Given the description of an element on the screen output the (x, y) to click on. 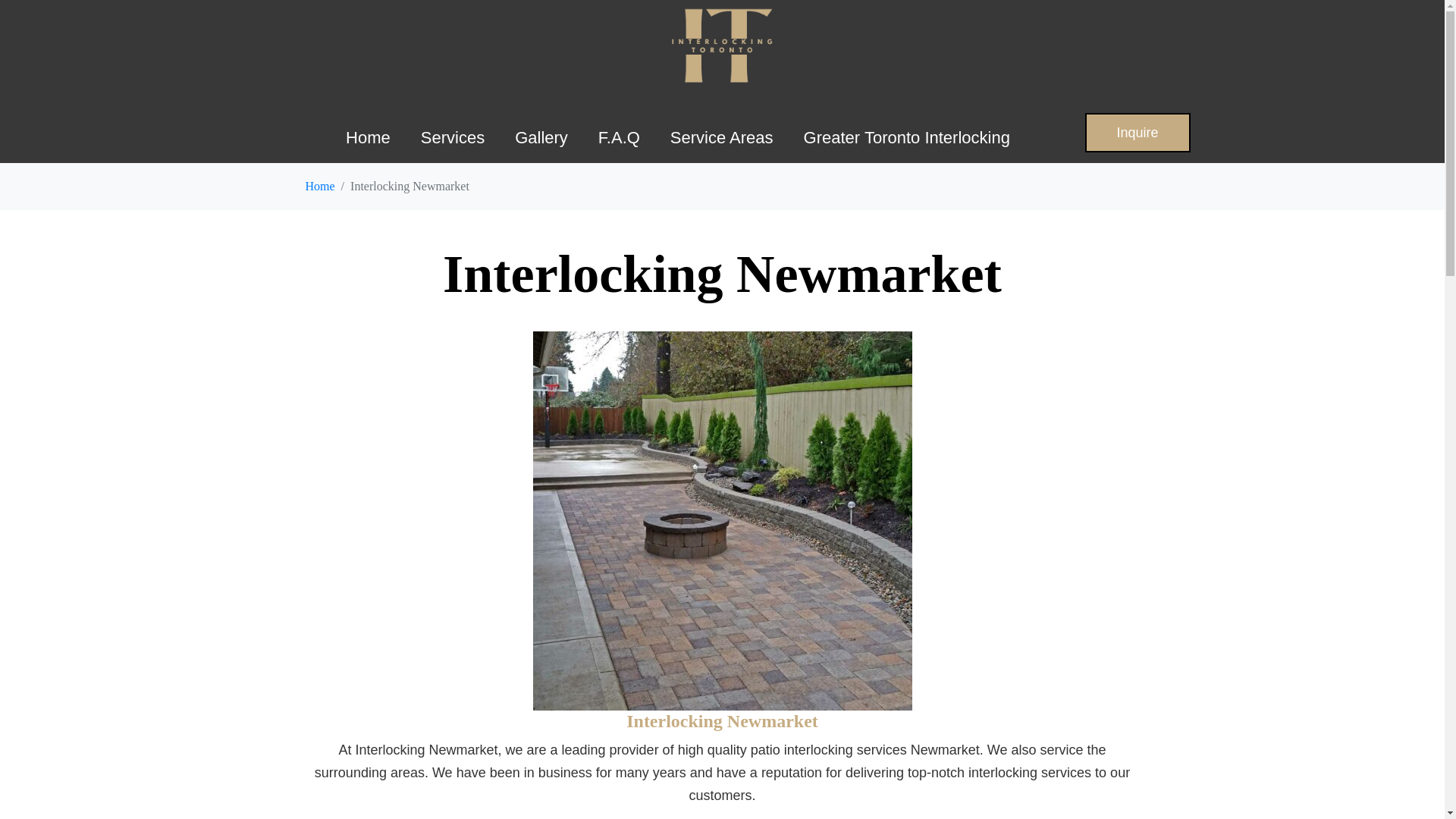
F.A.Q (619, 137)
Services (452, 137)
Gallery (541, 137)
Home (319, 185)
Greater Toronto Interlocking (907, 137)
Service Areas (722, 137)
Home (368, 137)
Inquire (1136, 132)
